Given the description of an element on the screen output the (x, y) to click on. 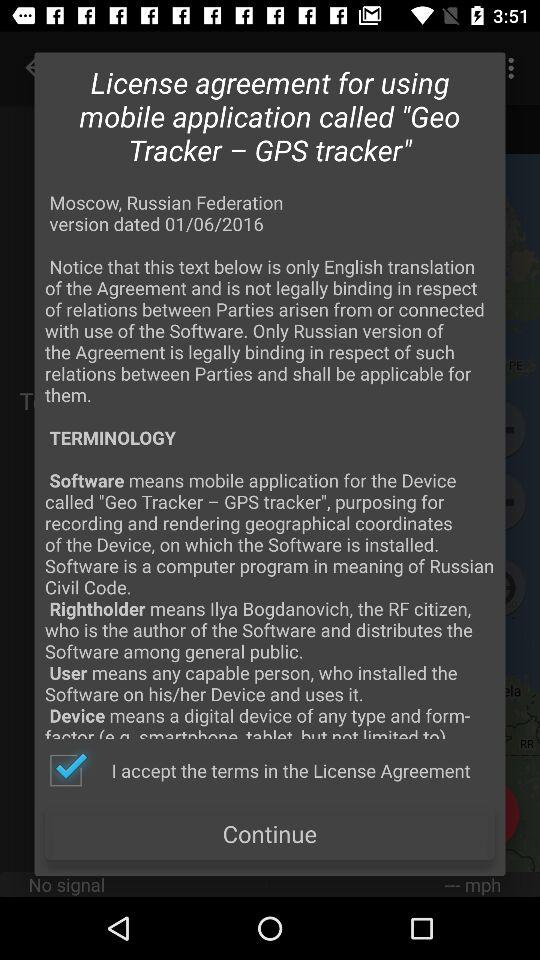
select the icon above continue item (259, 770)
